Given the description of an element on the screen output the (x, y) to click on. 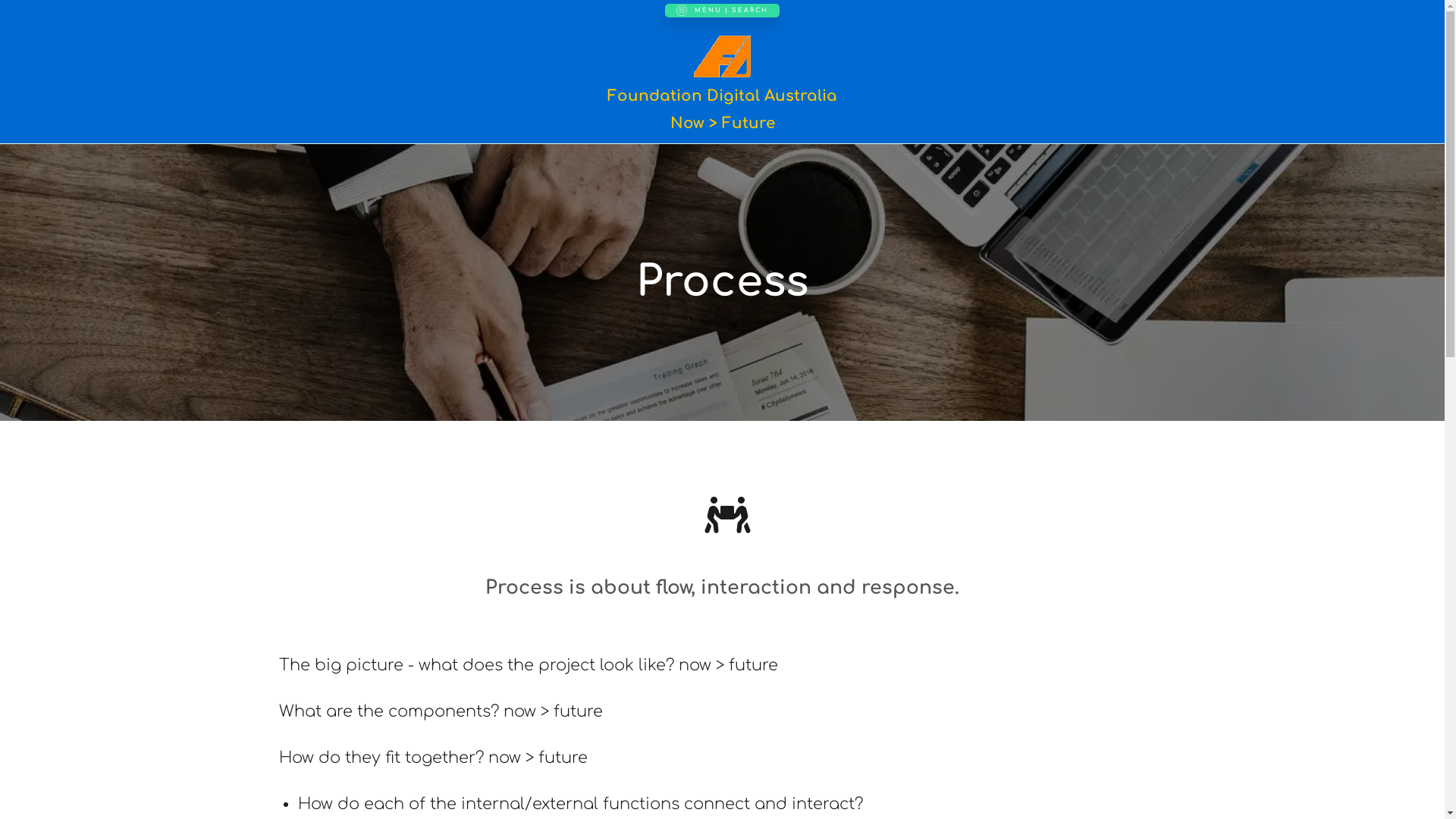
MENU | SEARCH Element type: text (722, 10)
